Given the description of an element on the screen output the (x, y) to click on. 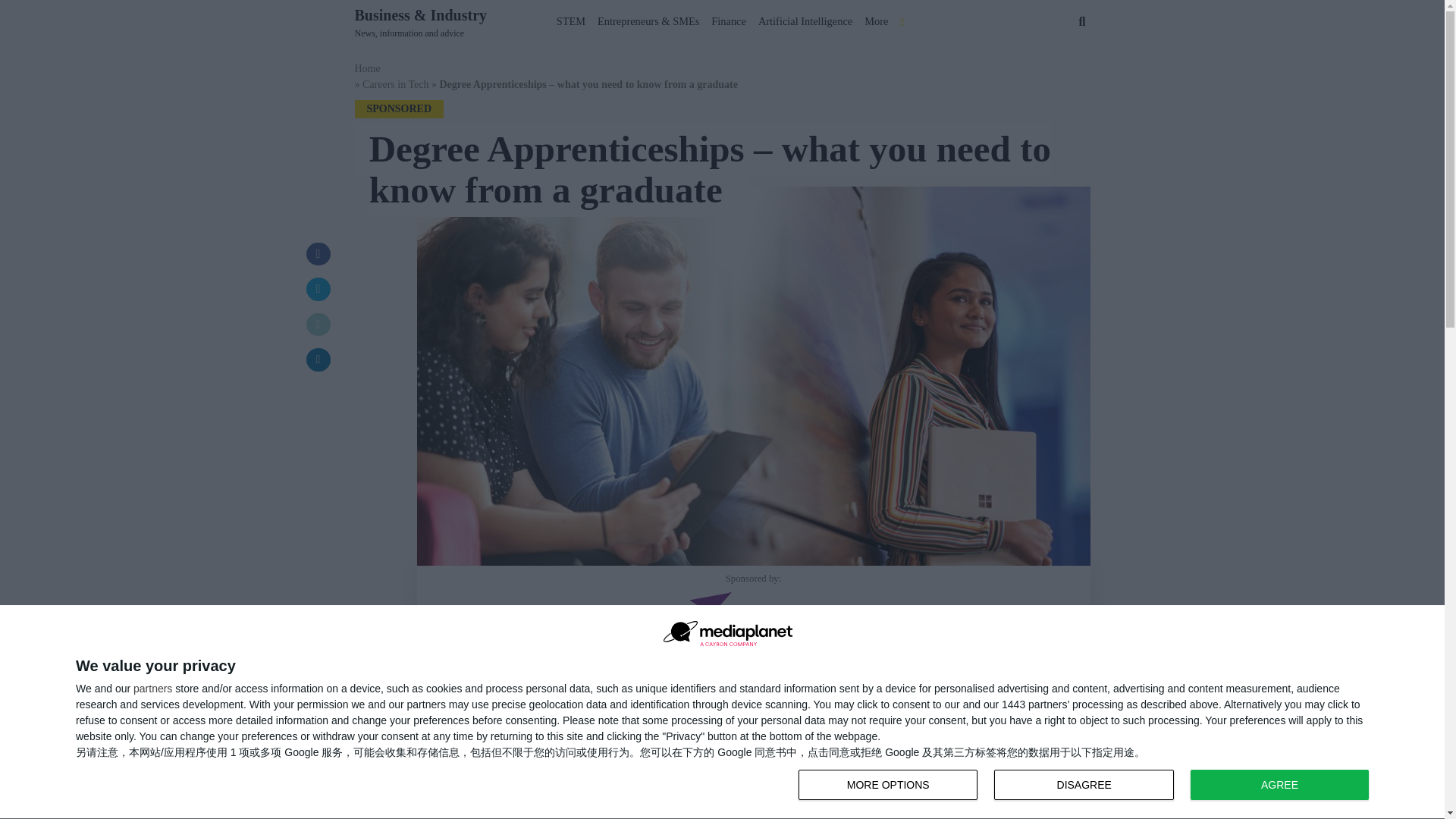
More (876, 18)
partners (152, 688)
MORE OPTIONS (886, 784)
DISAGREE (1083, 784)
STEM (1086, 785)
Finance (570, 18)
AGREE (728, 18)
Artificial Intelligence (1279, 784)
